Given the description of an element on the screen output the (x, y) to click on. 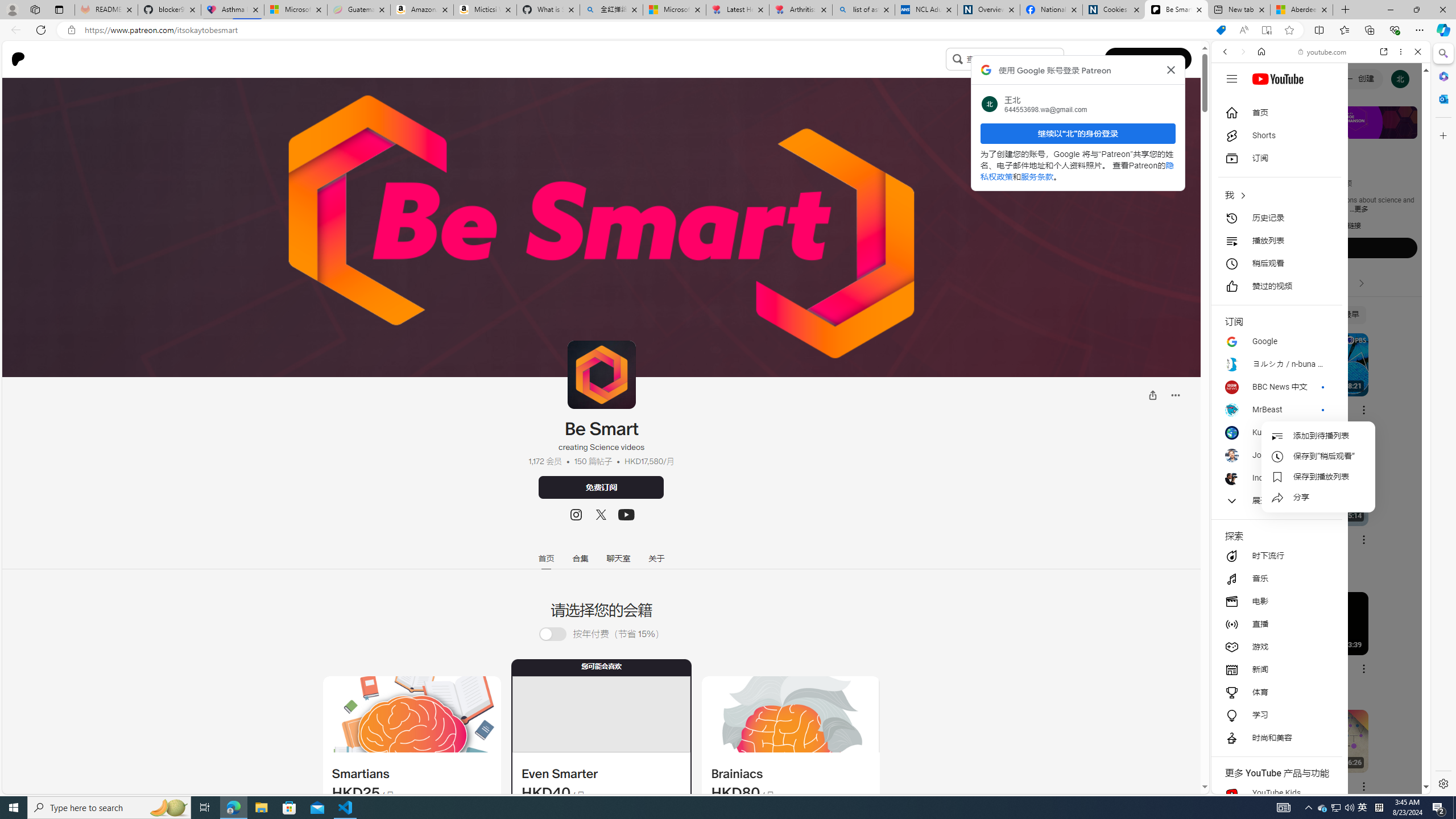
NCL Adult Asthma Inhaler Choice Guideline (925, 9)
Go to home page (22, 59)
